Given the description of an element on the screen output the (x, y) to click on. 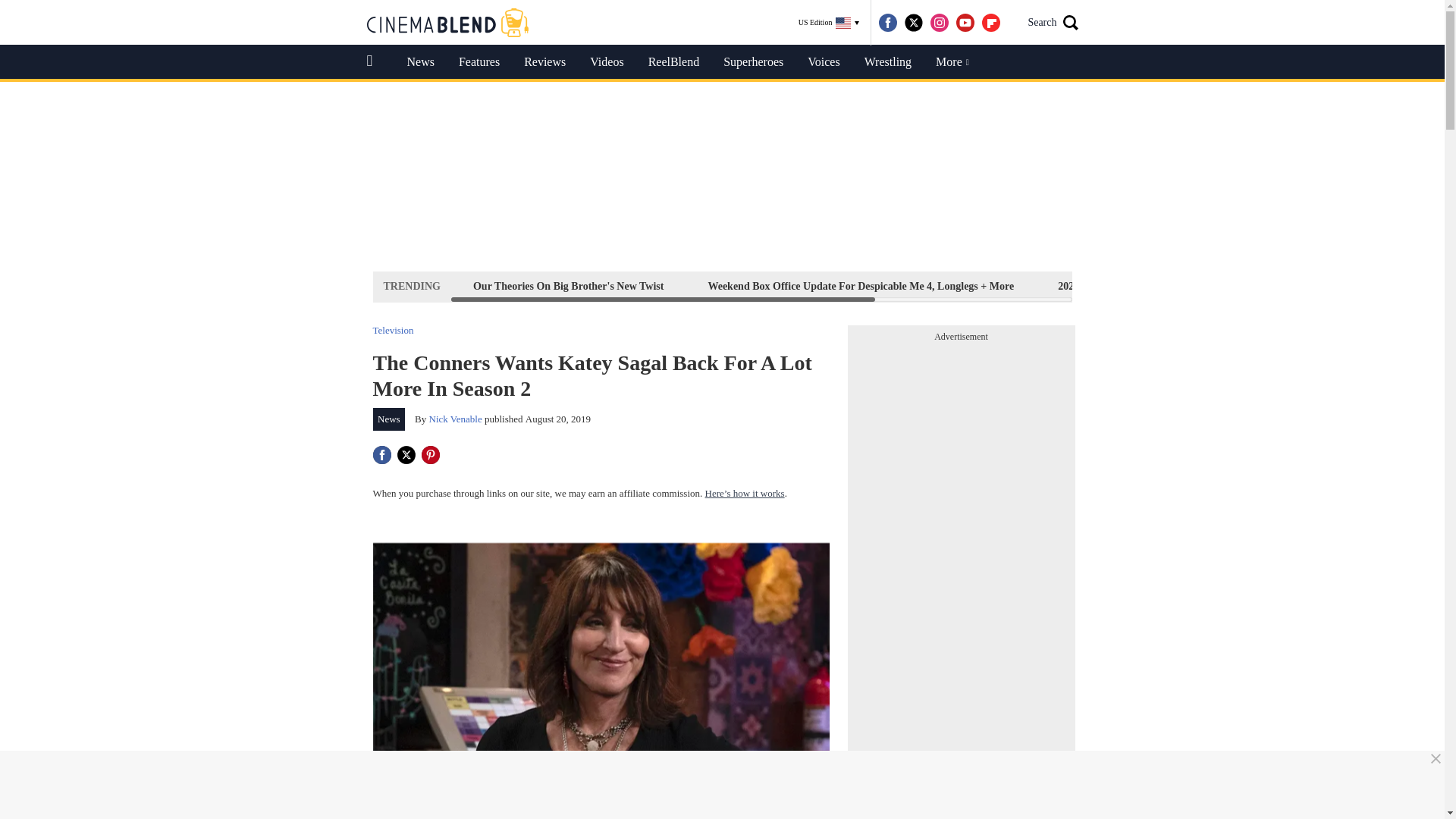
ReelBlend (673, 61)
Our Theories On Big Brother's New Twist (568, 286)
News (419, 61)
News (389, 418)
Superheroes (752, 61)
Features (479, 61)
Videos (606, 61)
Reviews (545, 61)
2024 Upcoming Movies (1110, 286)
US Edition (828, 22)
100 Best Sitcoms Of All Time (1272, 286)
Wrestling (887, 61)
